Given the description of an element on the screen output the (x, y) to click on. 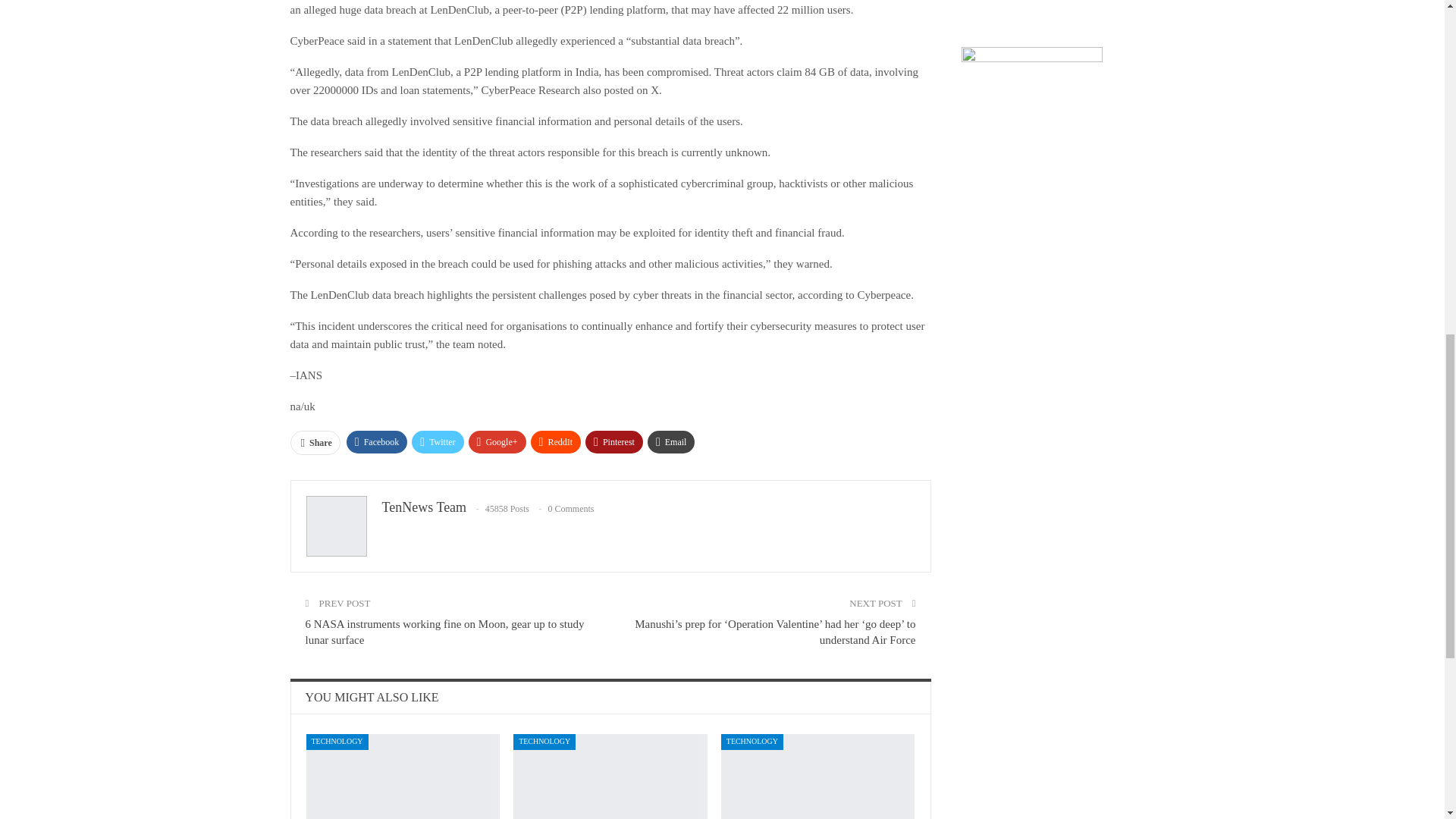
ReddIt (555, 441)
Facebook (376, 441)
Twitter (437, 441)
